Given the description of an element on the screen output the (x, y) to click on. 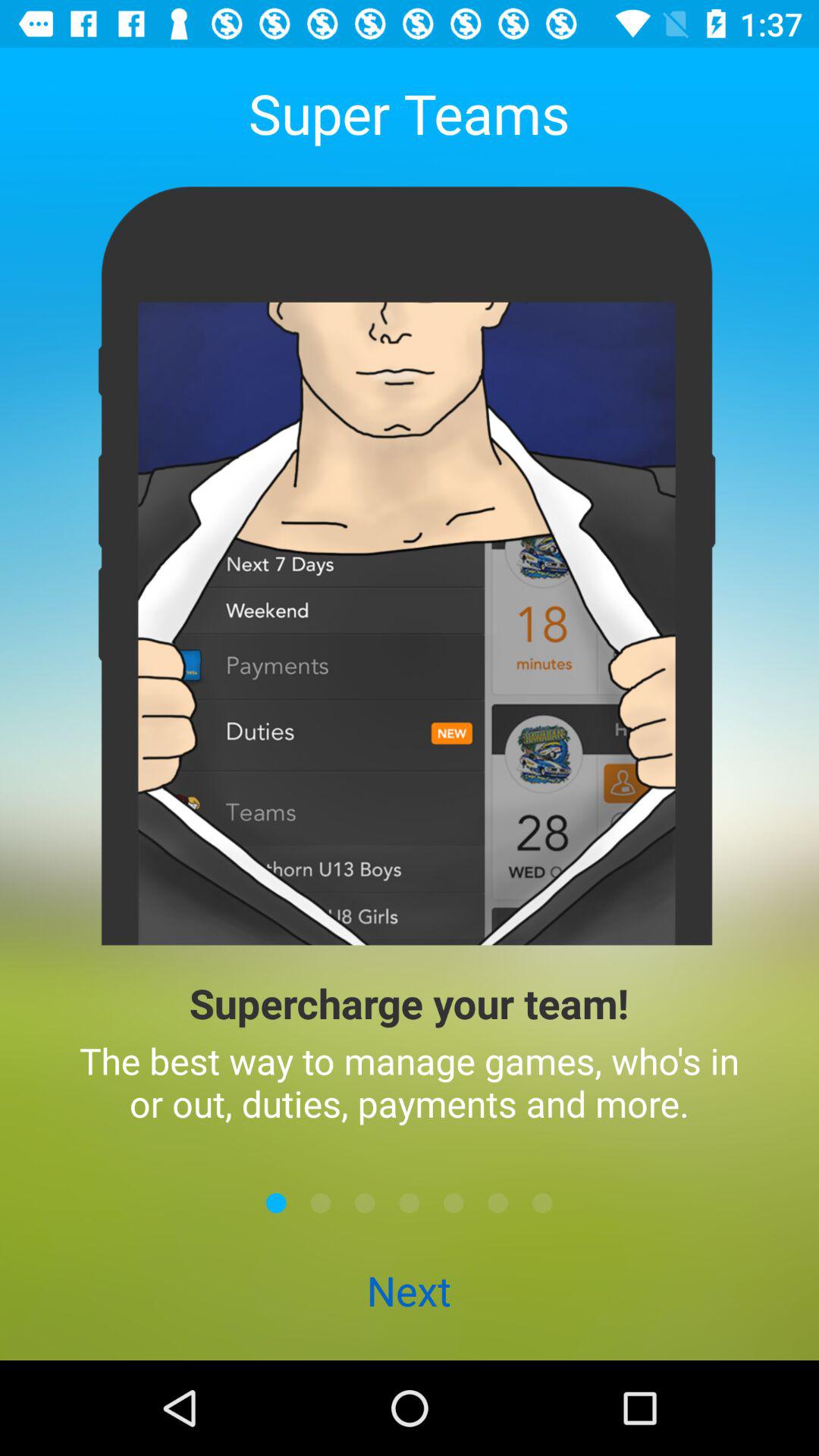
next (542, 1203)
